Given the description of an element on the screen output the (x, y) to click on. 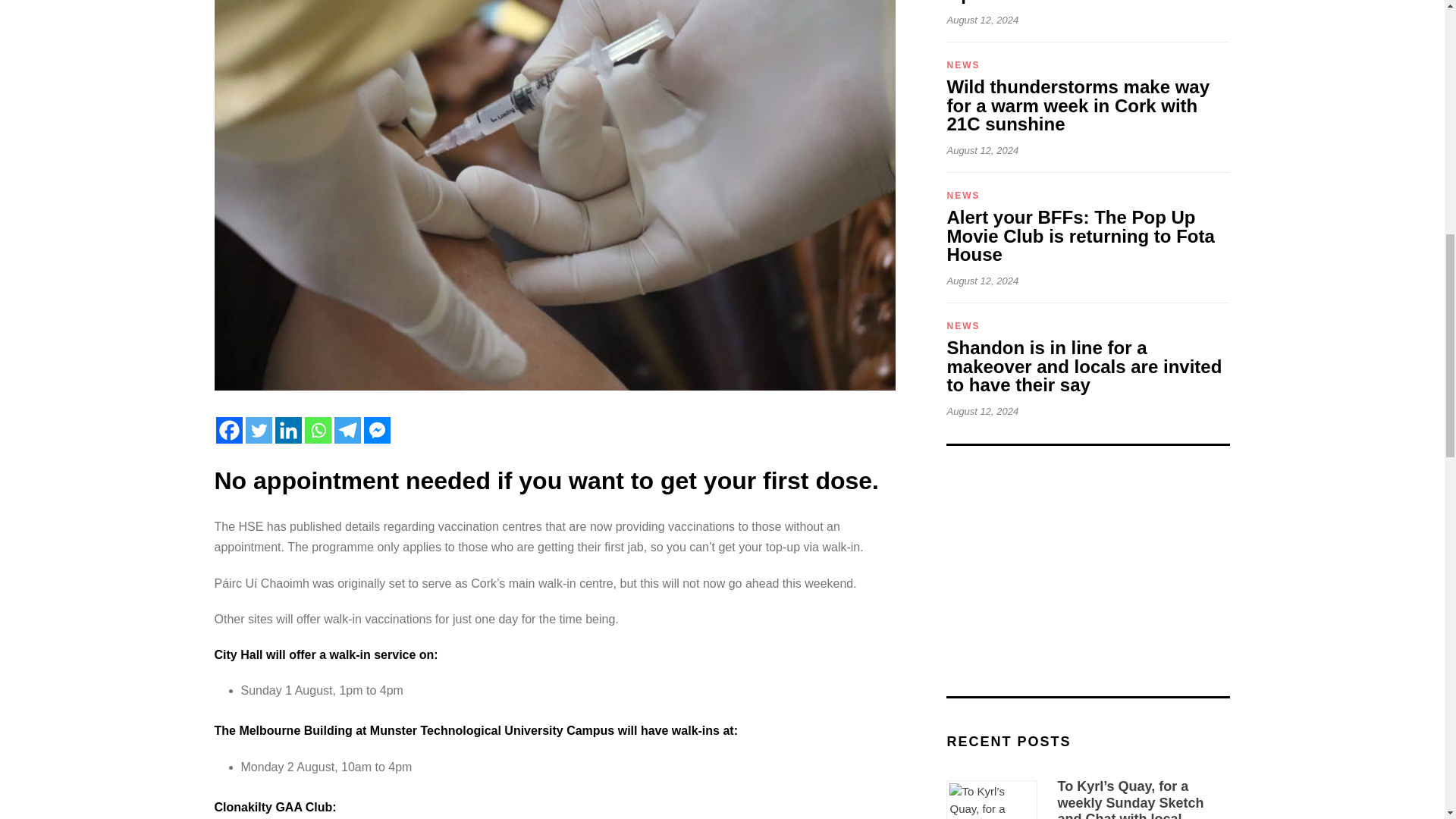
Linkedin (288, 429)
Telegram (346, 429)
Whatsapp (317, 429)
Twitter (259, 429)
Facebook (228, 429)
